Given the description of an element on the screen output the (x, y) to click on. 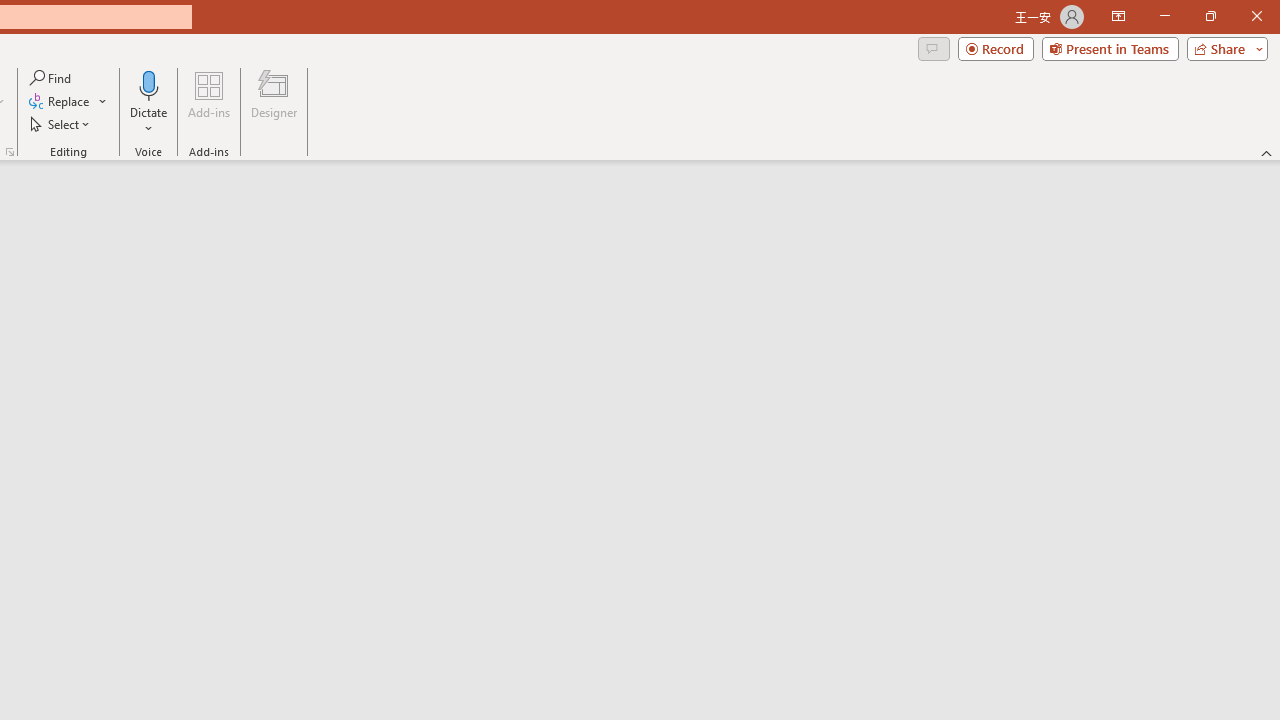
Replace... (60, 101)
Comments (933, 48)
Select (61, 124)
Share (1223, 48)
Replace... (68, 101)
Close (1256, 16)
Record (995, 48)
Minimize (1164, 16)
Dictate (149, 84)
Collapse the Ribbon (1267, 152)
Ribbon Display Options (1118, 16)
Dictate (149, 102)
Present in Teams (1109, 48)
